Given the description of an element on the screen output the (x, y) to click on. 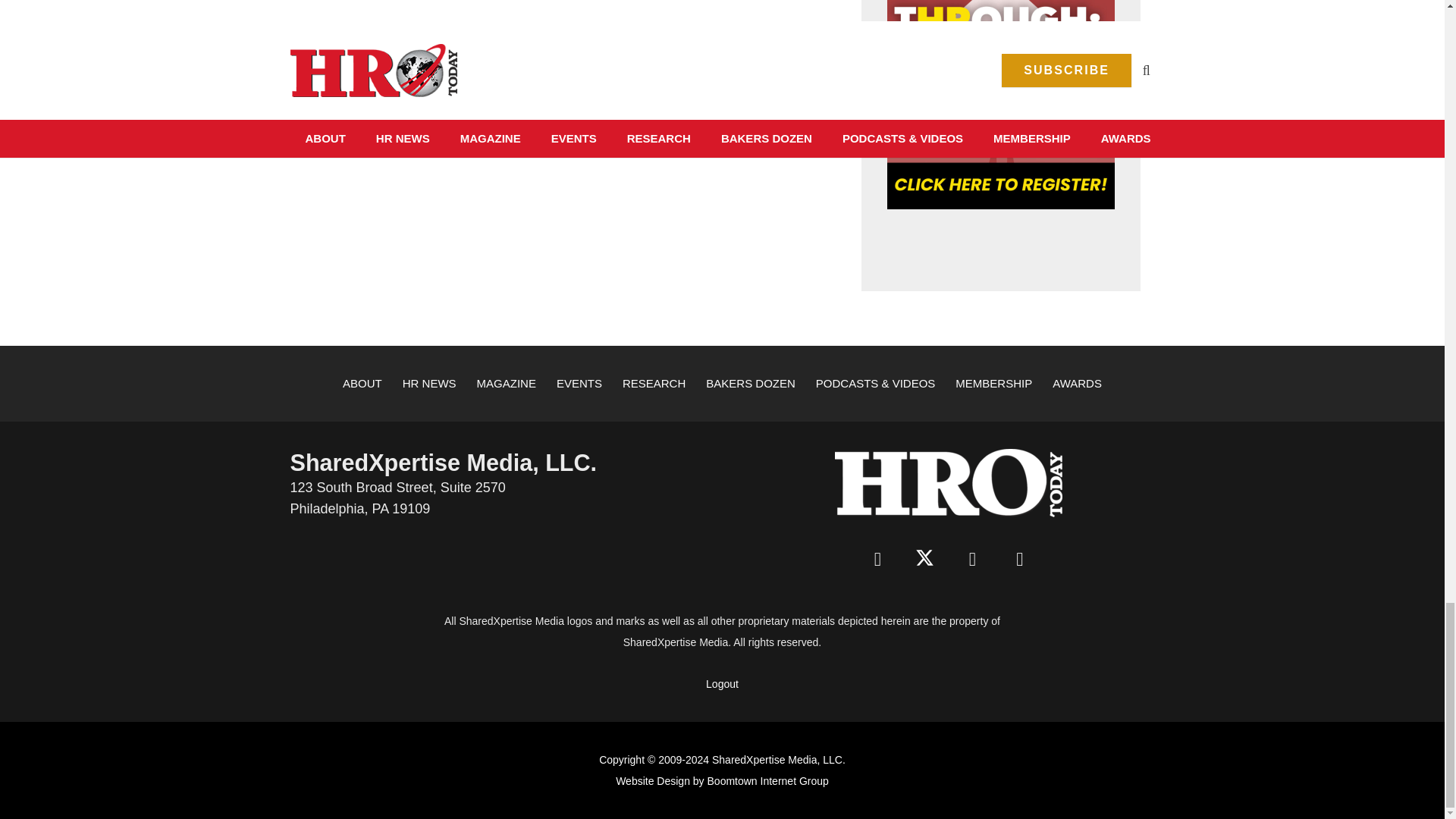
LinkedIn (972, 559)
Home (948, 482)
Facebook (877, 559)
Twitter (925, 559)
